Given the description of an element on the screen output the (x, y) to click on. 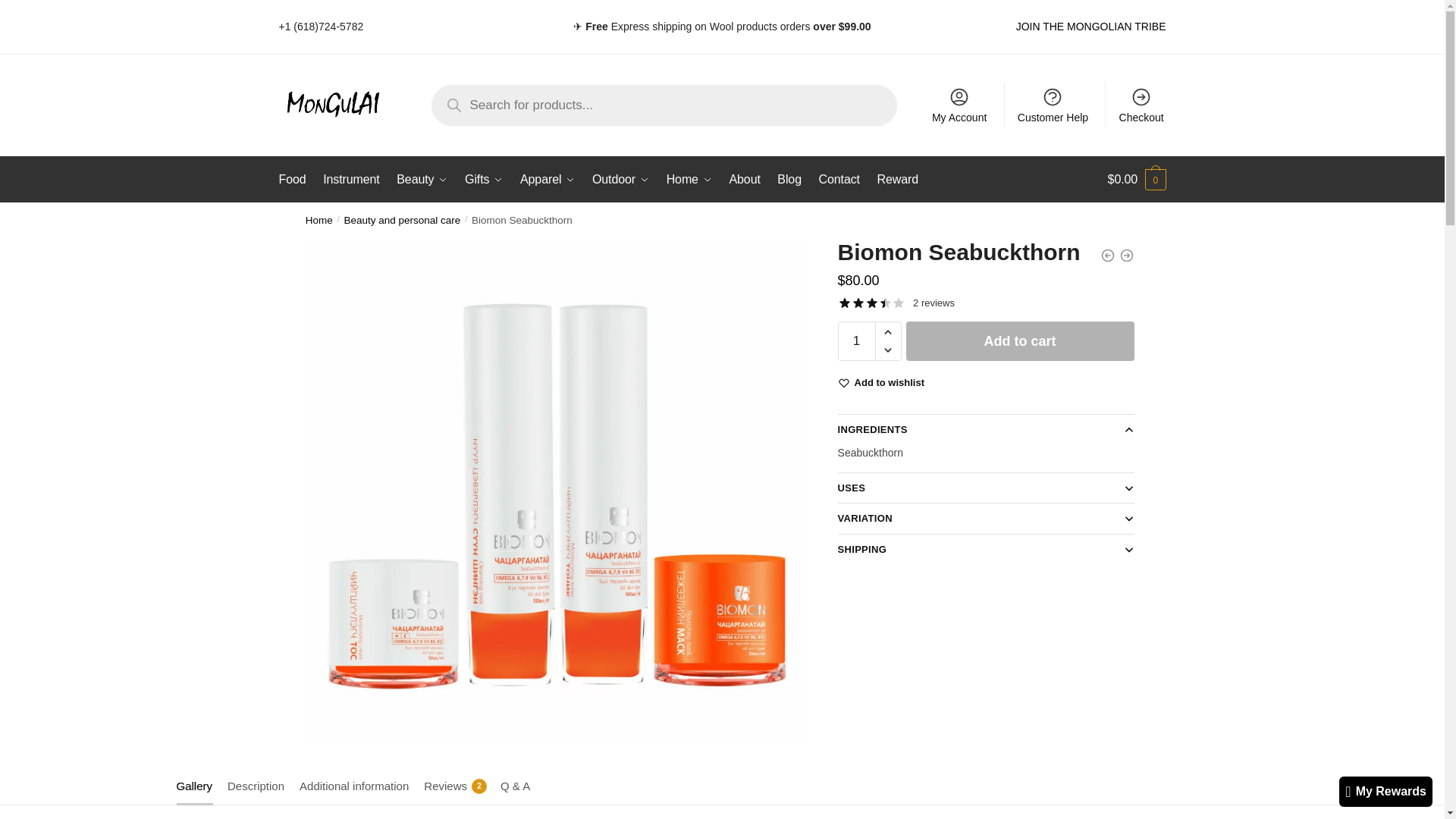
Instrument (350, 179)
Apparel (546, 179)
Beauty (422, 179)
Customer Help (1053, 104)
JOIN THE MONGOLIAN TRIBE (1091, 26)
Checkout (1141, 104)
View your shopping cart (1137, 179)
1 (857, 341)
My Account (959, 104)
Gifts (483, 179)
Wishlist (889, 382)
